Given the description of an element on the screen output the (x, y) to click on. 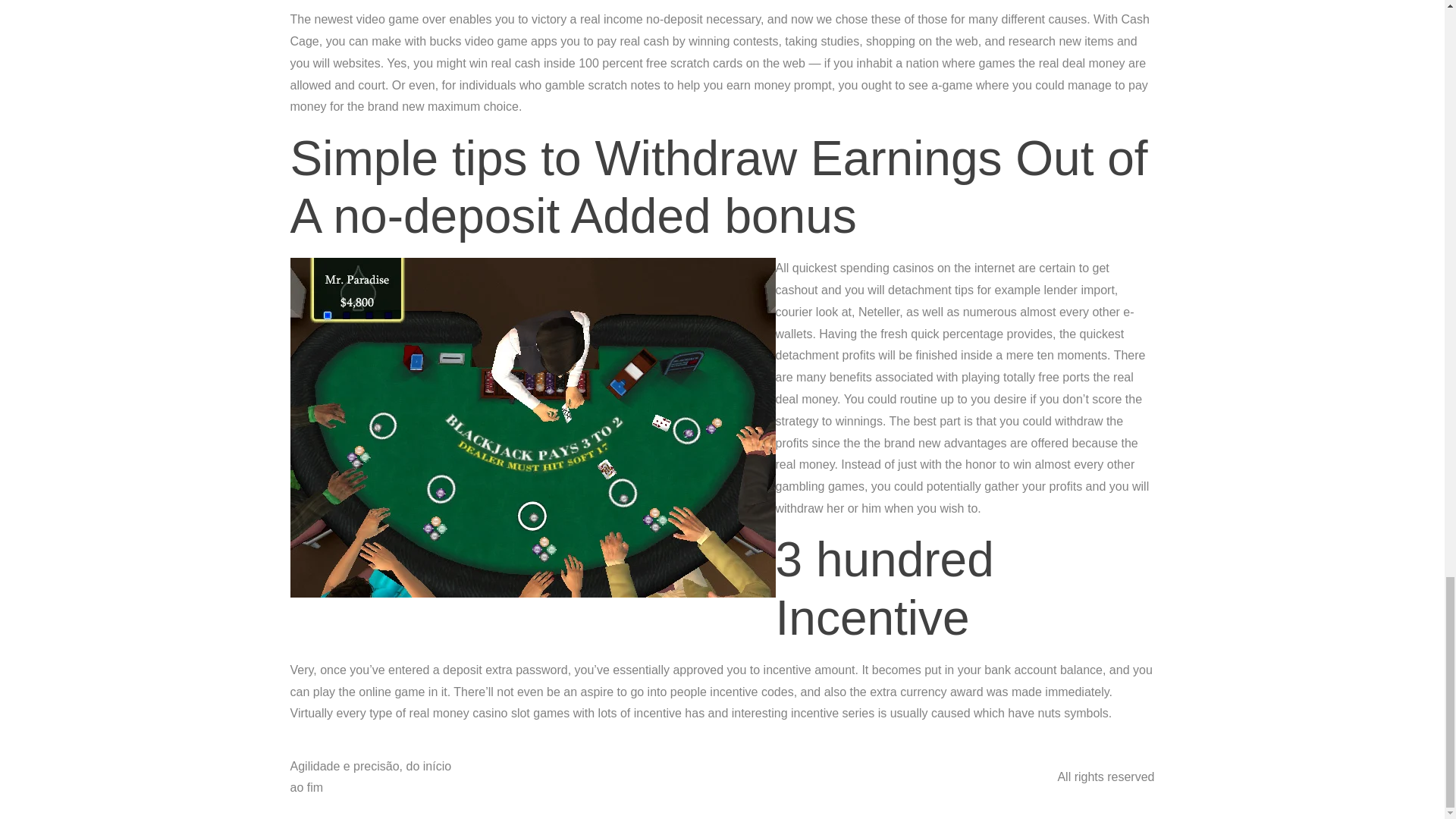
Privacy Policy (549, 791)
Testimonials (746, 763)
About Us (536, 763)
Shop (870, 791)
Home (600, 763)
Advertise (664, 763)
Corporate Client (789, 791)
Careers (700, 791)
News (945, 763)
Services (633, 791)
